Given the description of an element on the screen output the (x, y) to click on. 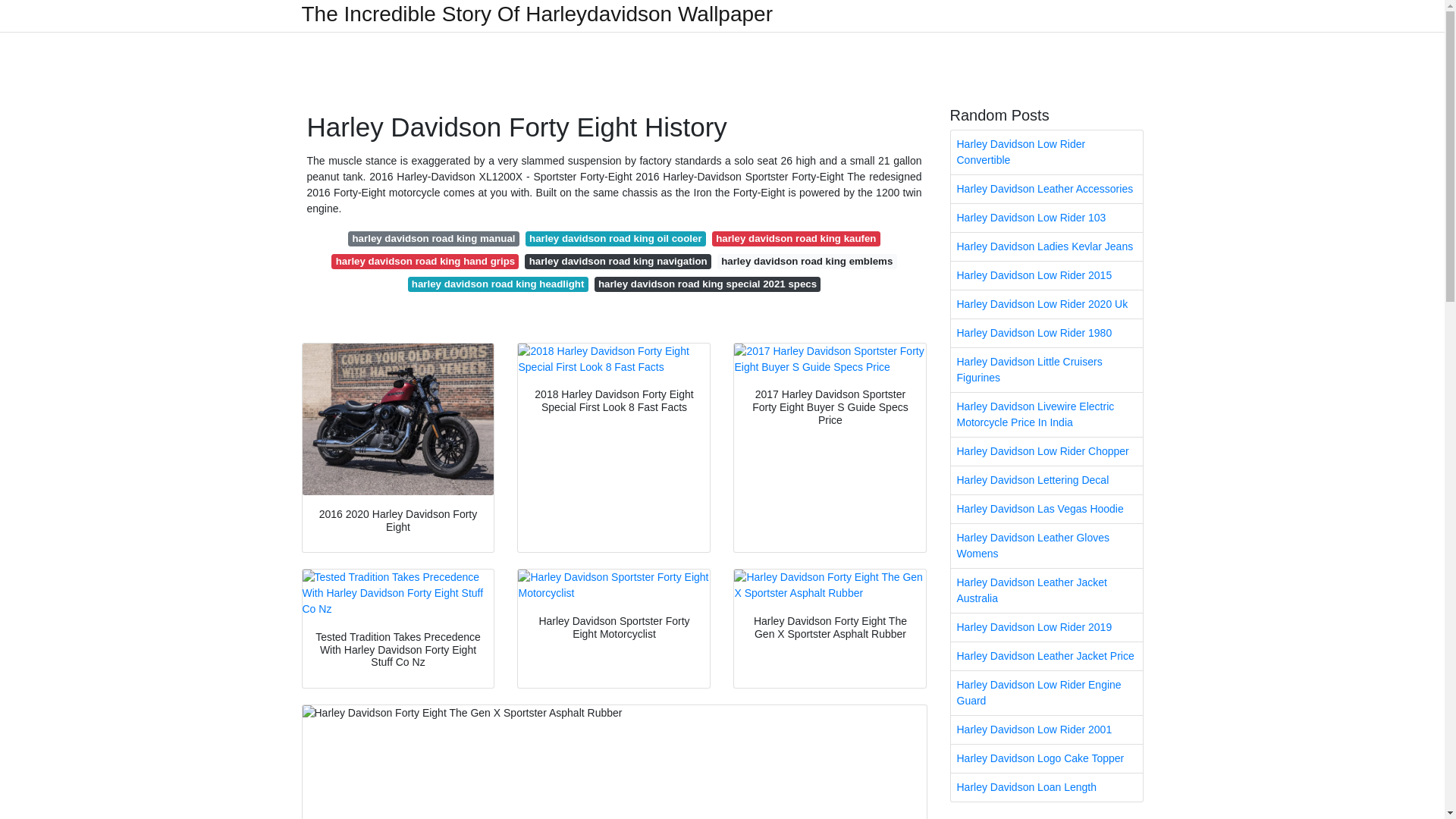
harley davidson road king navigation (617, 261)
Harley Davidson Low Rider Chopper (1046, 451)
Harley Davidson Low Rider 103 (1046, 217)
harley davidson road king oil cooler (615, 238)
Harley Davidson Low Rider 1980 (1046, 333)
harley davidson road king headlight (497, 283)
harley davidson road king manual (433, 238)
harley davidson road king hand grips (424, 261)
Harley Davidson Livewire Electric Motorcycle Price In India (1046, 414)
harley davidson road king special 2021 specs (707, 283)
